Given the description of an element on the screen output the (x, y) to click on. 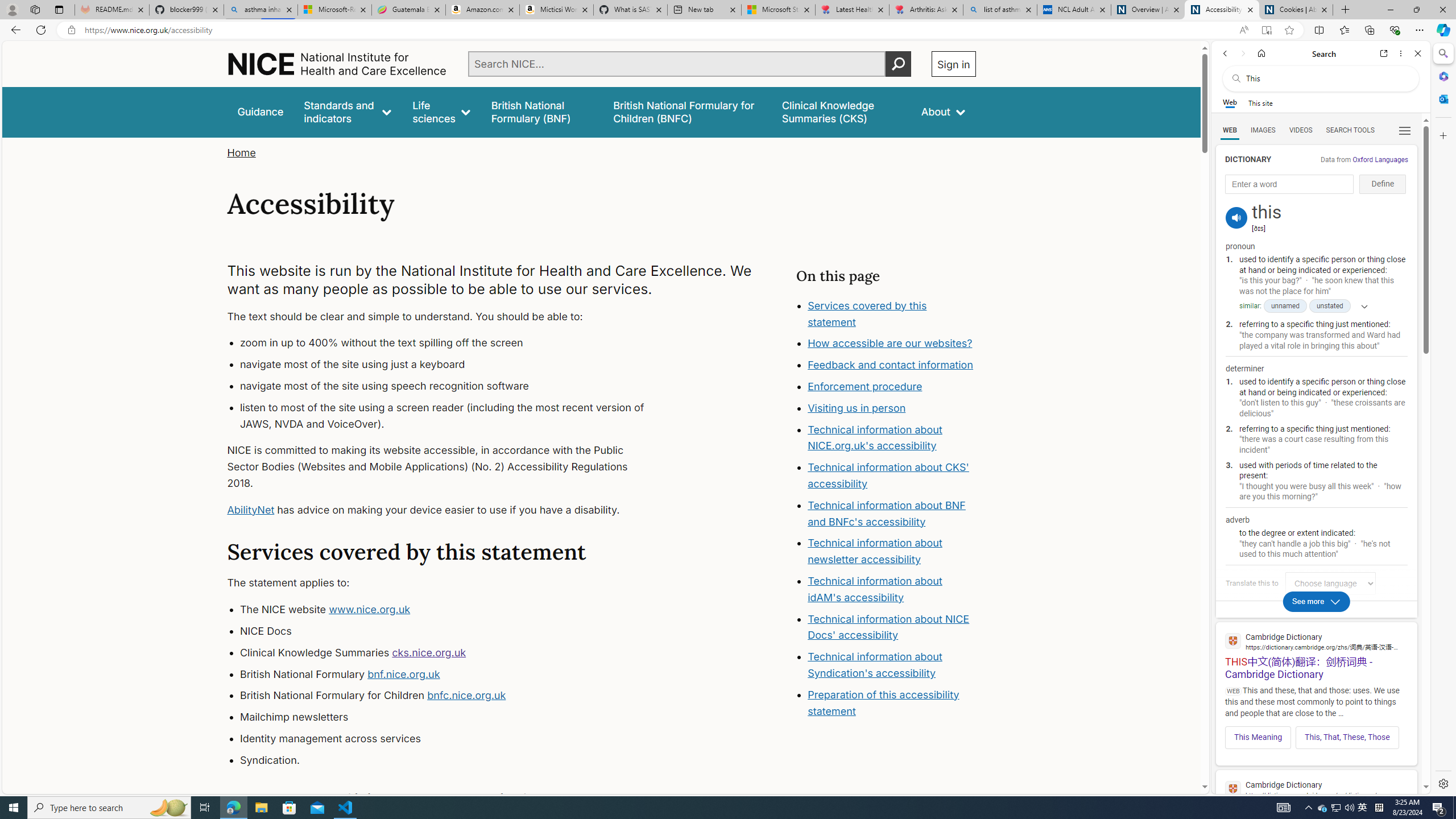
Enforcement procedure (891, 386)
Technical information about newsletter accessibility (875, 551)
Services covered by this statement (891, 313)
Visiting us in person (856, 407)
Services covered by this statement (867, 313)
